Given the description of an element on the screen output the (x, y) to click on. 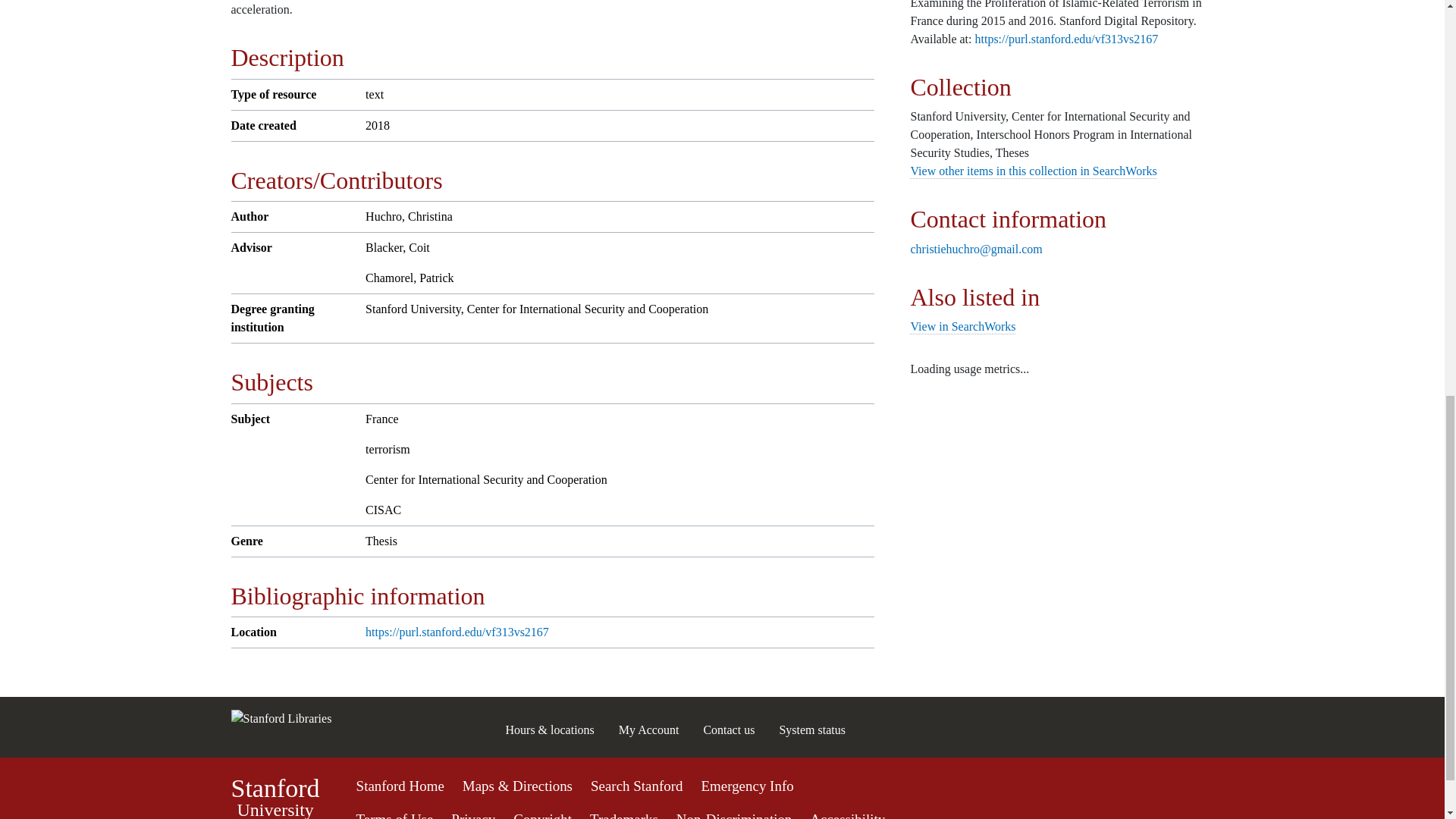
Non-discrimination policy (734, 815)
Ownership and use of Stanford trademarks and images (623, 815)
My Account (648, 729)
Report web accessibility issues (847, 815)
Contact us (728, 729)
Privacy and cookie policy (473, 815)
Terms of use for sites (394, 815)
System status (811, 729)
Report alleged copyright infringement (542, 815)
Common Stanford resources (722, 797)
